Given the description of an element on the screen output the (x, y) to click on. 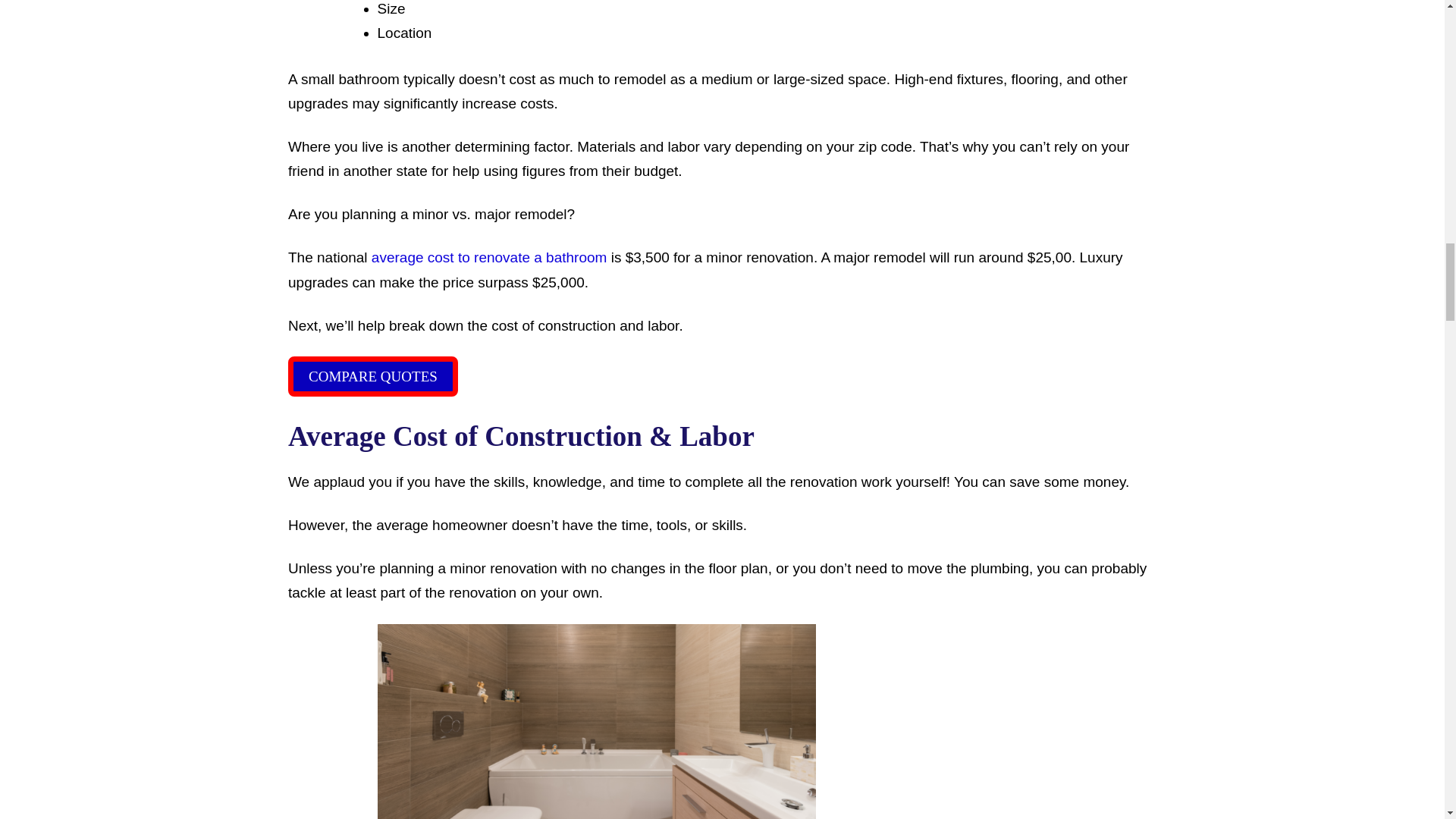
Bathtubs (596, 721)
